Given the description of an element on the screen output the (x, y) to click on. 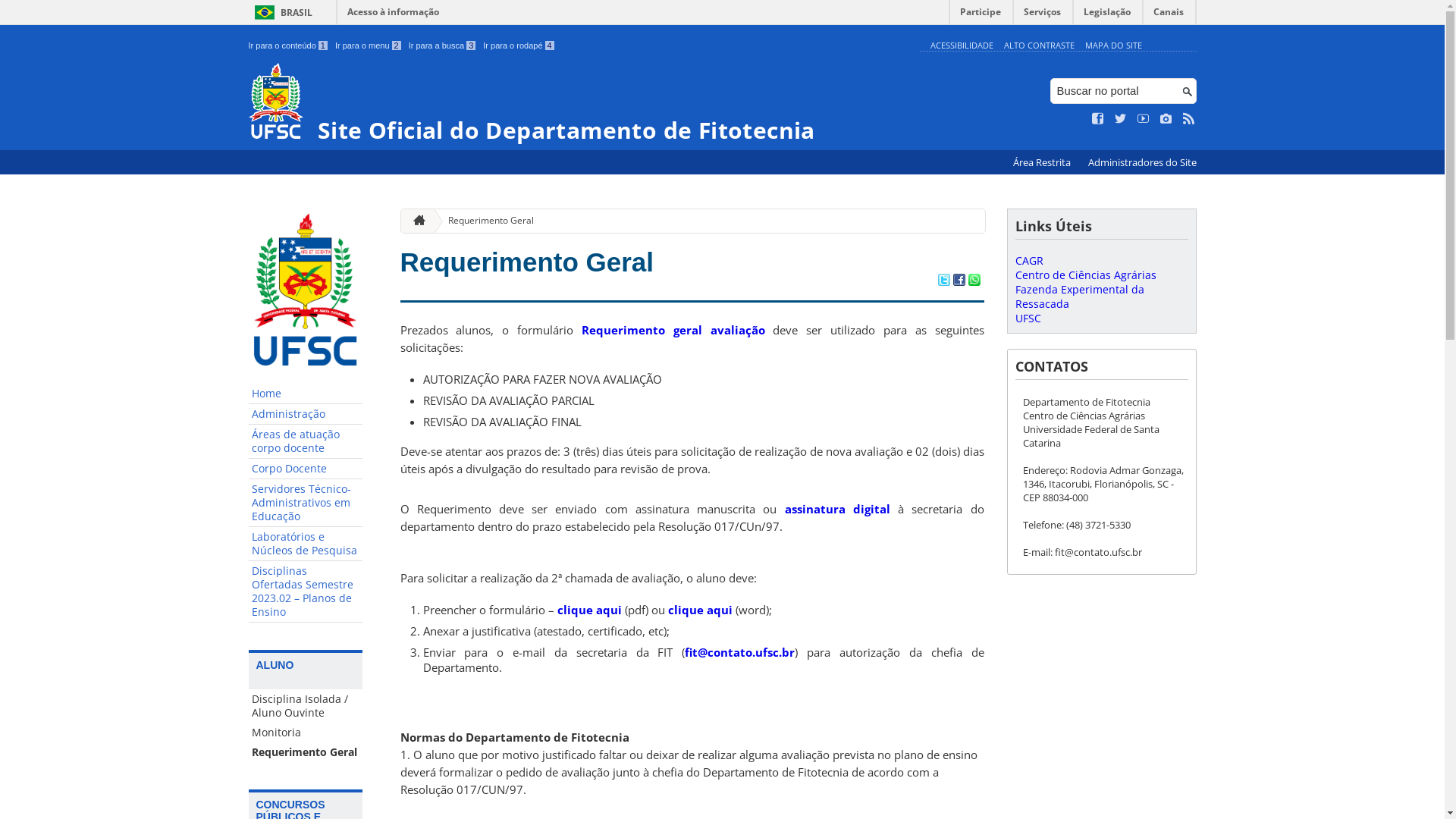
UFSC Element type: text (1027, 317)
Compartilhar no Facebook Element type: hover (958, 280)
clique aqui Element type: text (588, 609)
BRASIL Element type: text (280, 12)
Veja no Instagram Element type: hover (1166, 118)
Disciplina Isolada / Aluno Ouvinte Element type: text (305, 705)
Ir para a busca 3 Element type: text (442, 45)
Canais Element type: text (1169, 15)
Compartilhar no Twitter Element type: hover (943, 280)
Ir para o menu 2 Element type: text (368, 45)
fit@contato.ufsc.br Element type: text (739, 651)
Fazenda Experimental da Ressacada Element type: text (1078, 296)
Participe Element type: text (980, 15)
Requerimento Geral Element type: text (484, 220)
Compartilhar no WhatsApp Element type: hover (973, 280)
Corpo Docente Element type: text (305, 468)
ALTO CONTRASTE Element type: text (1039, 44)
CAGR Element type: text (1028, 260)
assinatura digital Element type: text (837, 508)
clique aqui Element type: text (699, 609)
MAPA DO SITE Element type: text (1112, 44)
Requerimento Geral Element type: text (527, 261)
Site Oficial do Departamento de Fitotecnia Element type: text (580, 102)
Curta no Facebook Element type: hover (1098, 118)
ACESSIBILIDADE Element type: text (960, 44)
Siga no Twitter Element type: hover (1120, 118)
Monitoria Element type: text (305, 732)
Administradores do Site Element type: text (1141, 162)
Home Element type: text (305, 393)
Requerimento Geral Element type: text (305, 752)
